Given the description of an element on the screen output the (x, y) to click on. 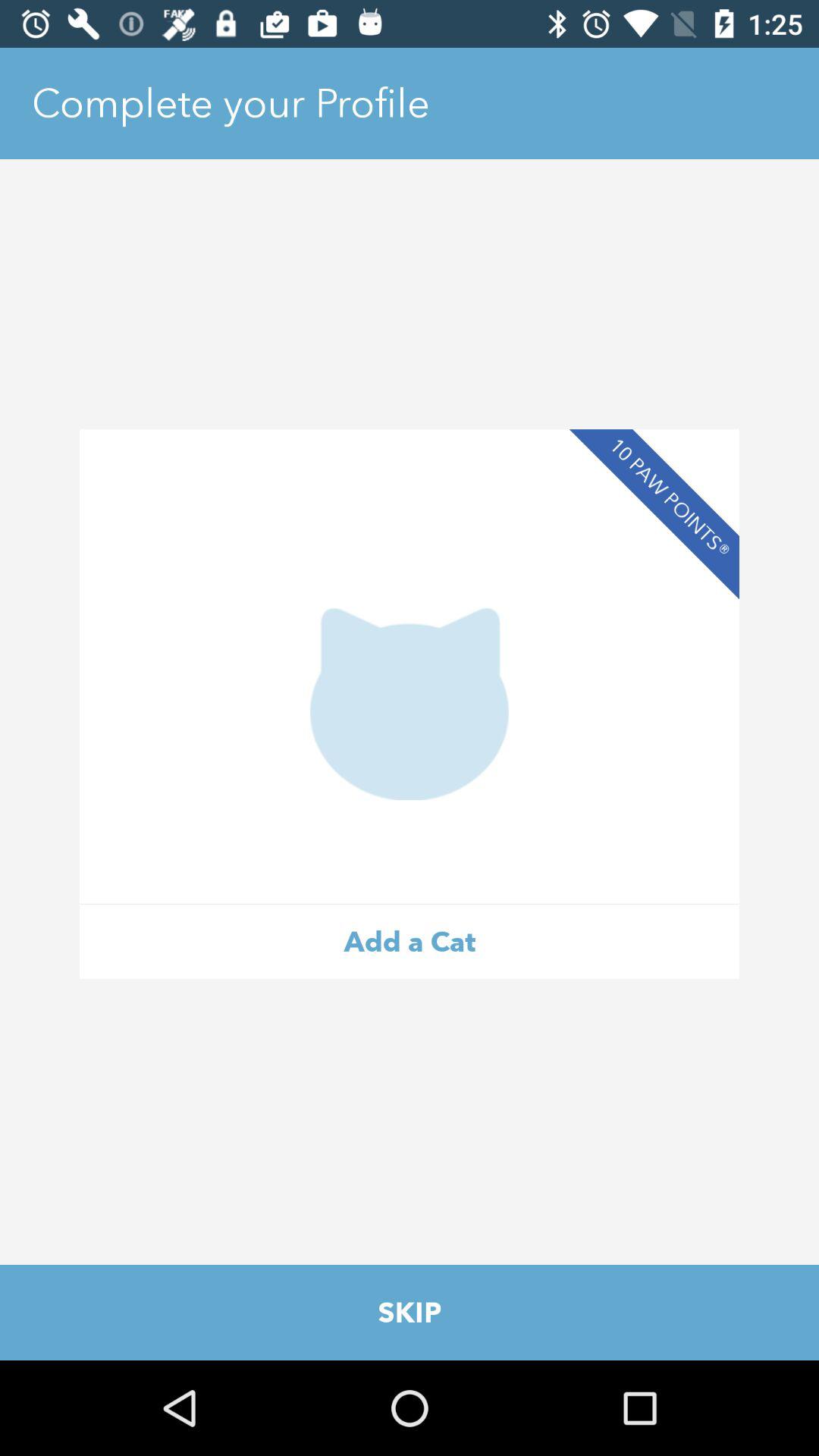
turn on the item below the add a cat (409, 1312)
